Given the description of an element on the screen output the (x, y) to click on. 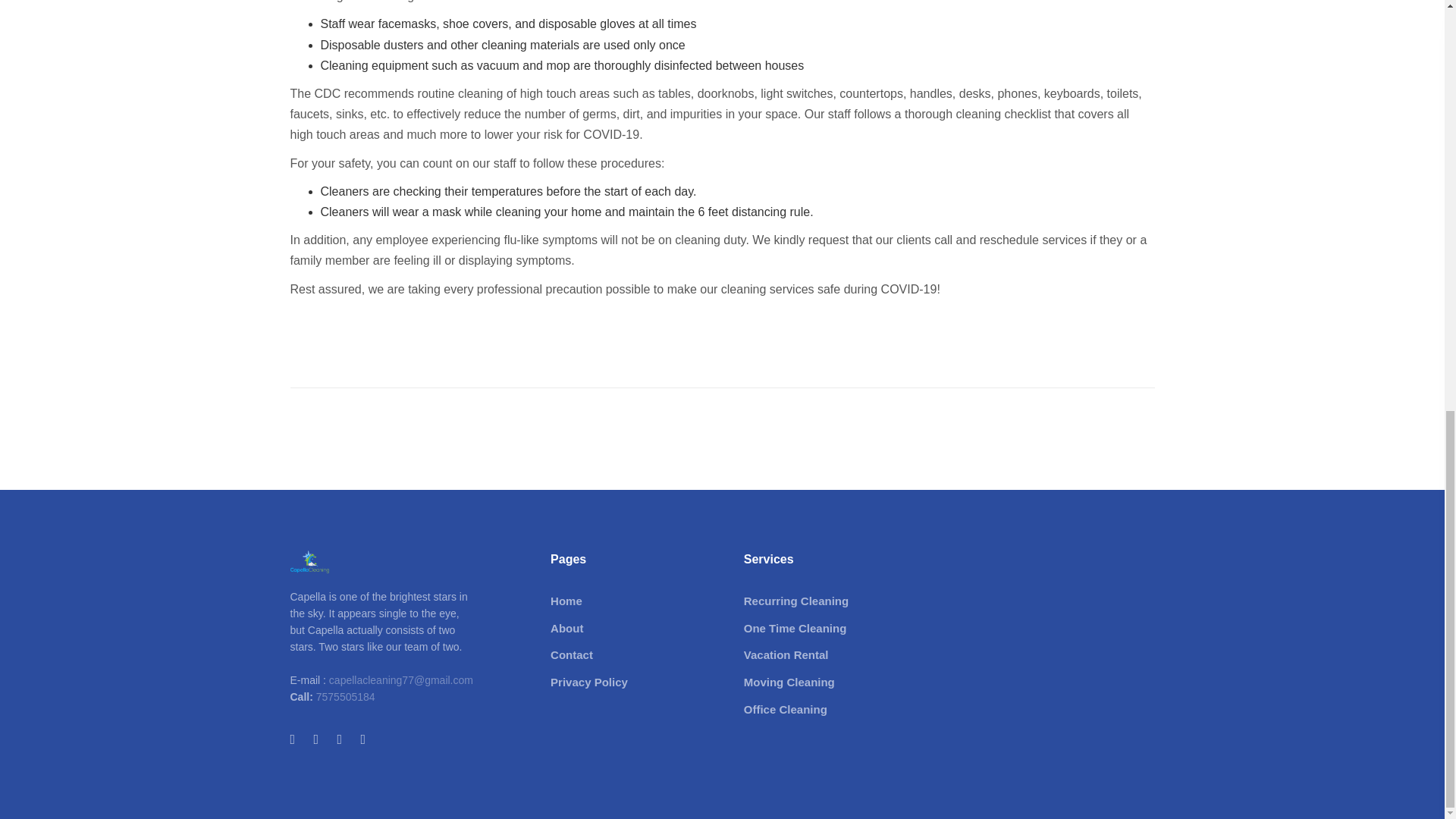
7575505184 (344, 696)
Home (588, 600)
One Time Cleaning (796, 628)
Vacation Rental (796, 655)
About (588, 628)
About (588, 628)
Contact (588, 655)
Recurring Cleaning (796, 600)
Contact (588, 655)
Home (588, 600)
